Given the description of an element on the screen output the (x, y) to click on. 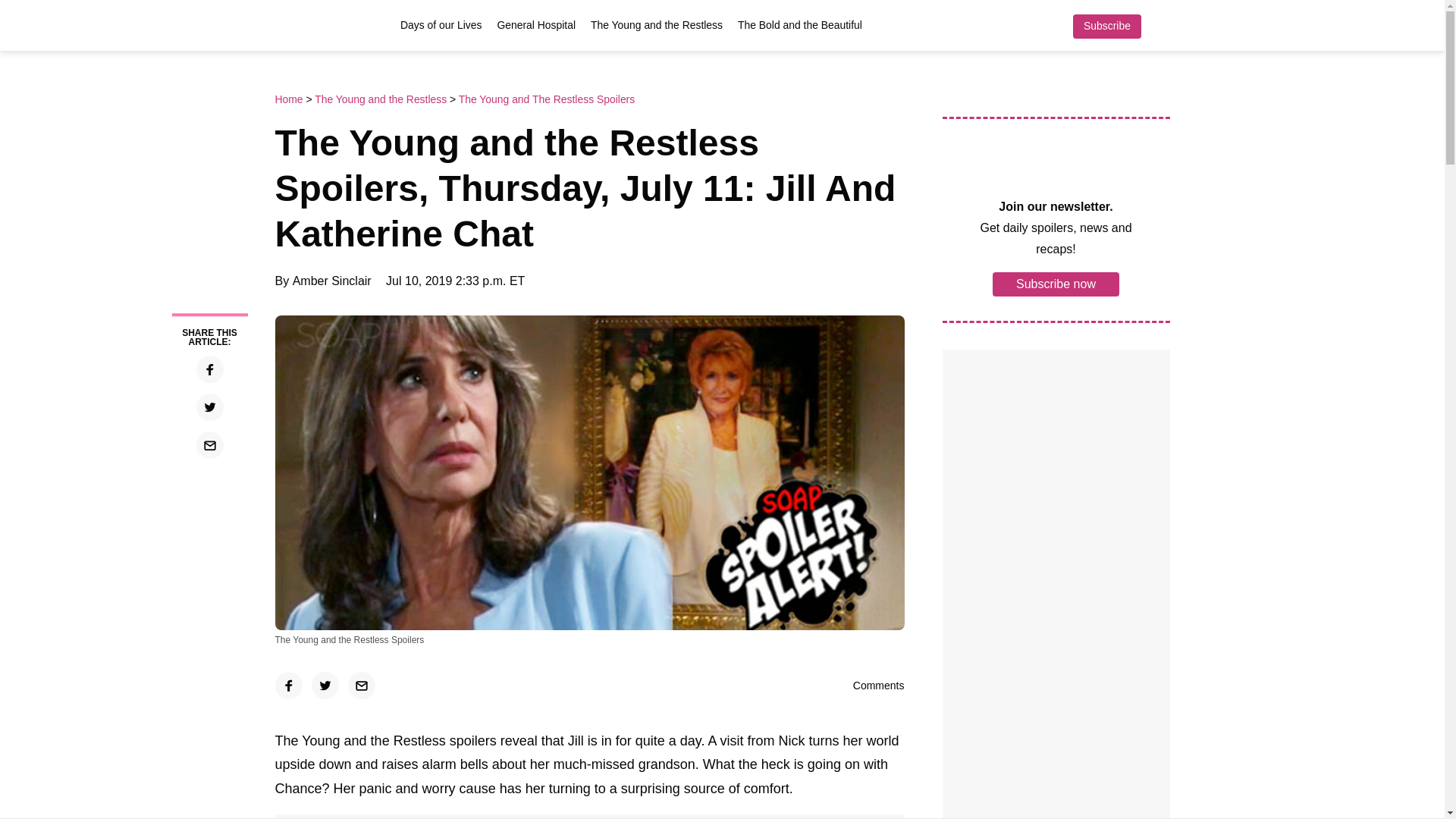
Home (290, 99)
The Bold and the Beautiful (799, 24)
Search (1161, 26)
Click to email a link to a friend (360, 685)
Amber Sinclair (331, 280)
Days of our Lives (441, 24)
The Young and The Restless Spoilers (546, 99)
Click to share on Twitter (324, 685)
Subscribe now (1055, 283)
Subscribe (1105, 26)
